Given the description of an element on the screen output the (x, y) to click on. 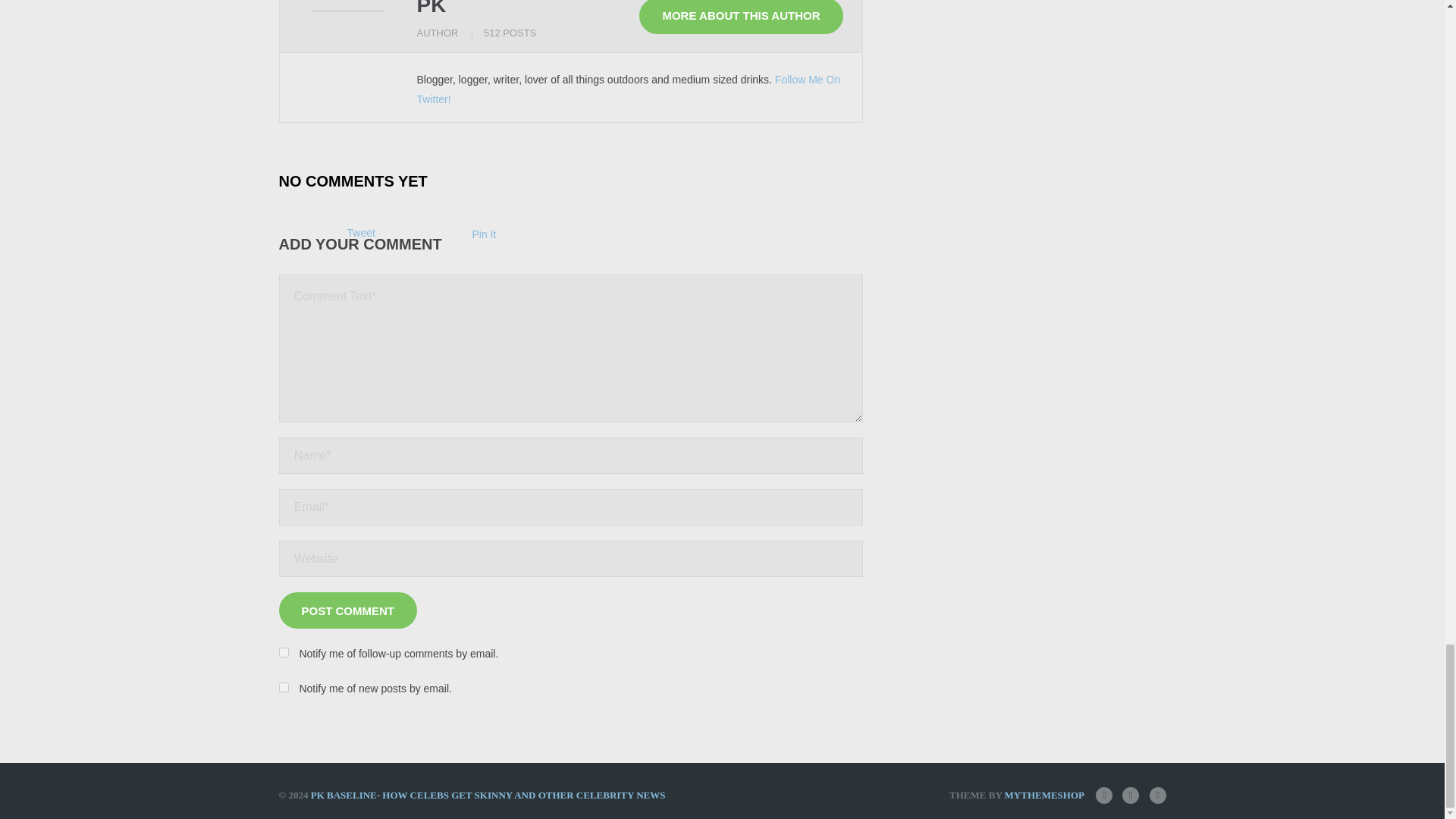
512 POSTS (509, 32)
Post Comment (348, 610)
subscribe (283, 652)
Post Comment (348, 610)
Follow Me On Twitter! (628, 89)
NO COMMENTS YET (353, 180)
subscribe (283, 687)
MORE ABOUT THIS AUTHOR (741, 17)
